Given the description of an element on the screen output the (x, y) to click on. 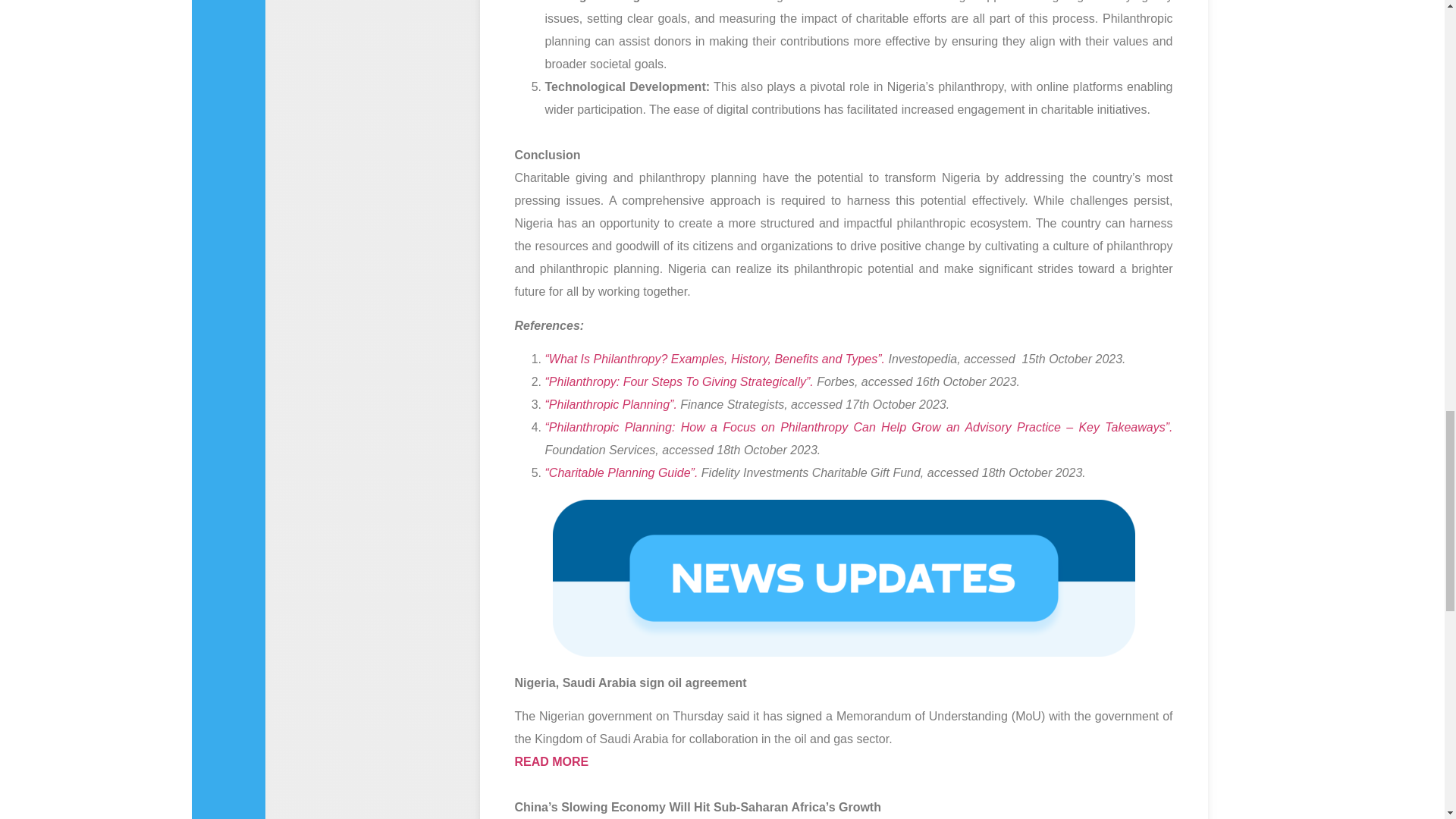
READ MORE (550, 761)
